Given the description of an element on the screen output the (x, y) to click on. 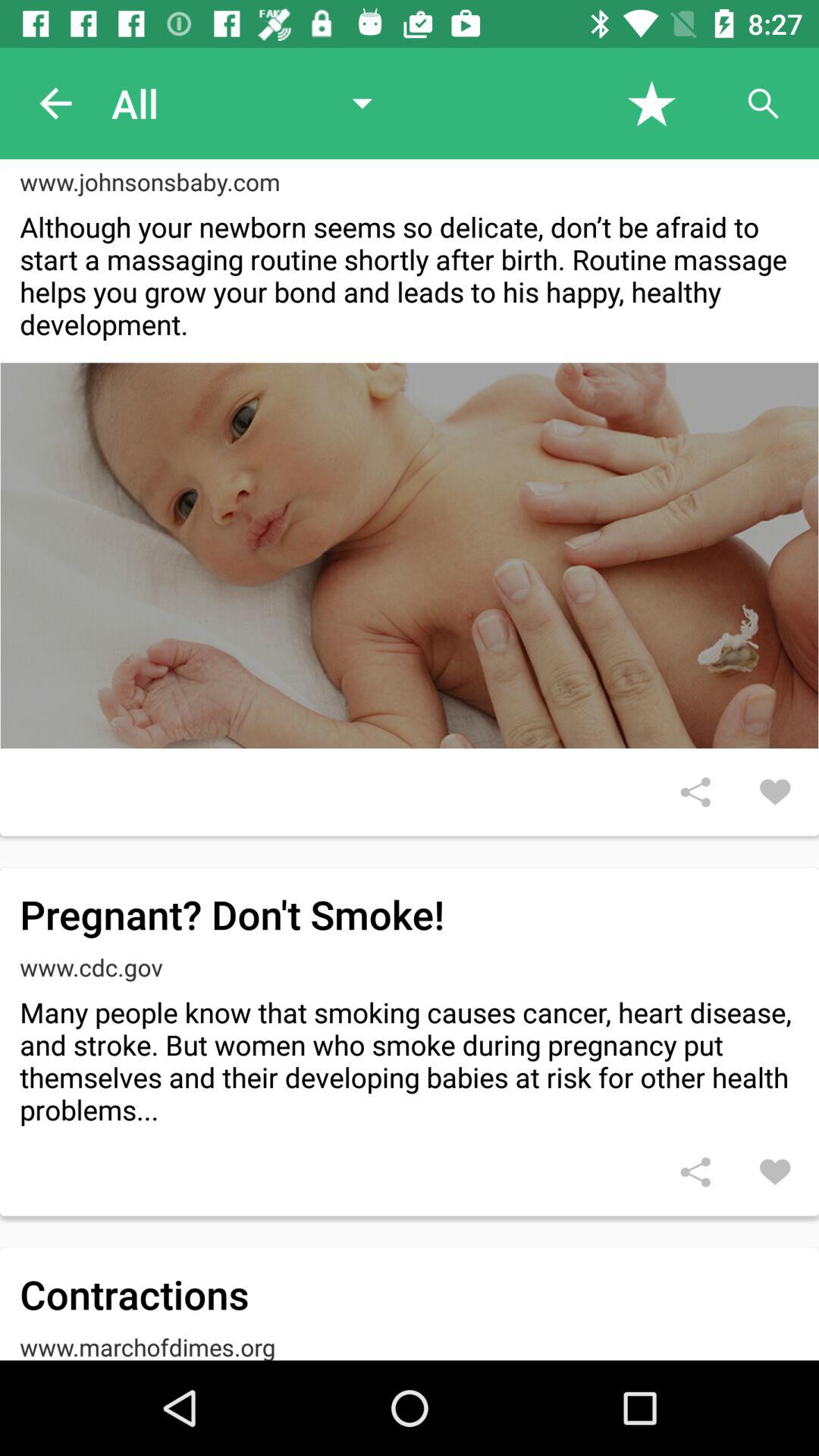
like button (775, 792)
